Given the description of an element on the screen output the (x, y) to click on. 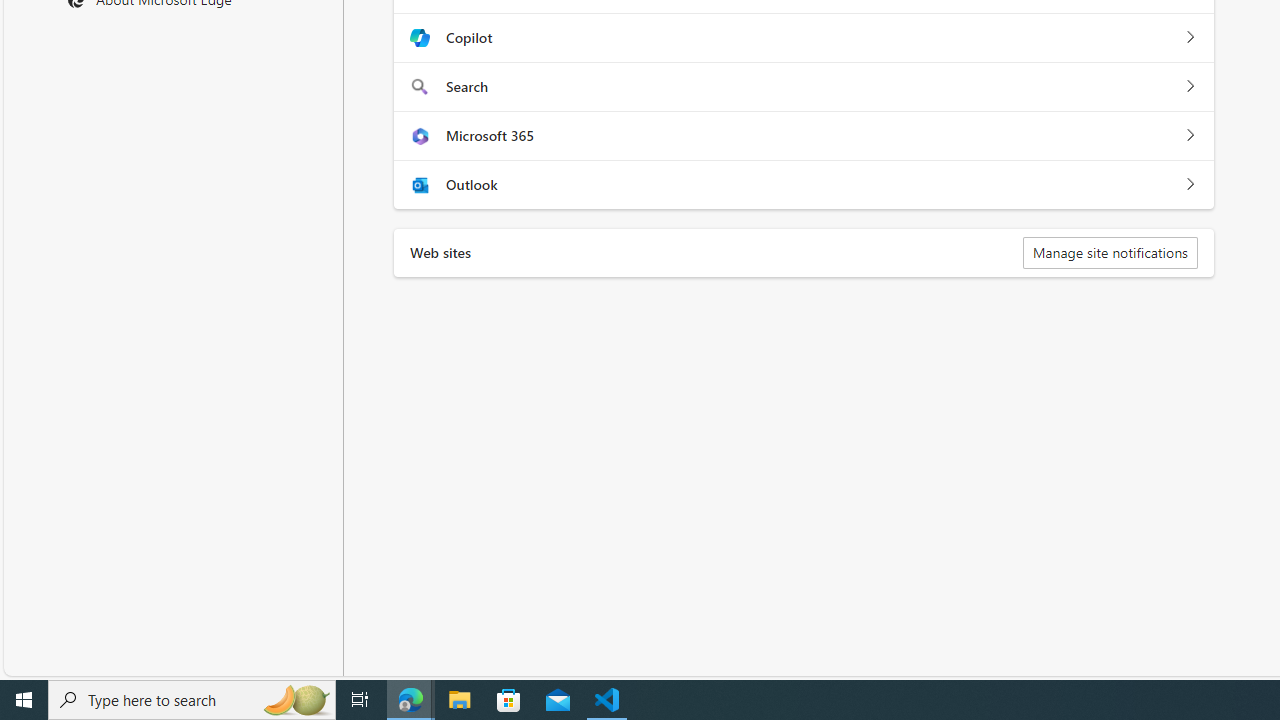
Manage site notifications (1109, 252)
Microsoft 365 (1190, 136)
Outlook (1190, 185)
Copilot (1190, 38)
Search (1190, 87)
